Given the description of an element on the screen output the (x, y) to click on. 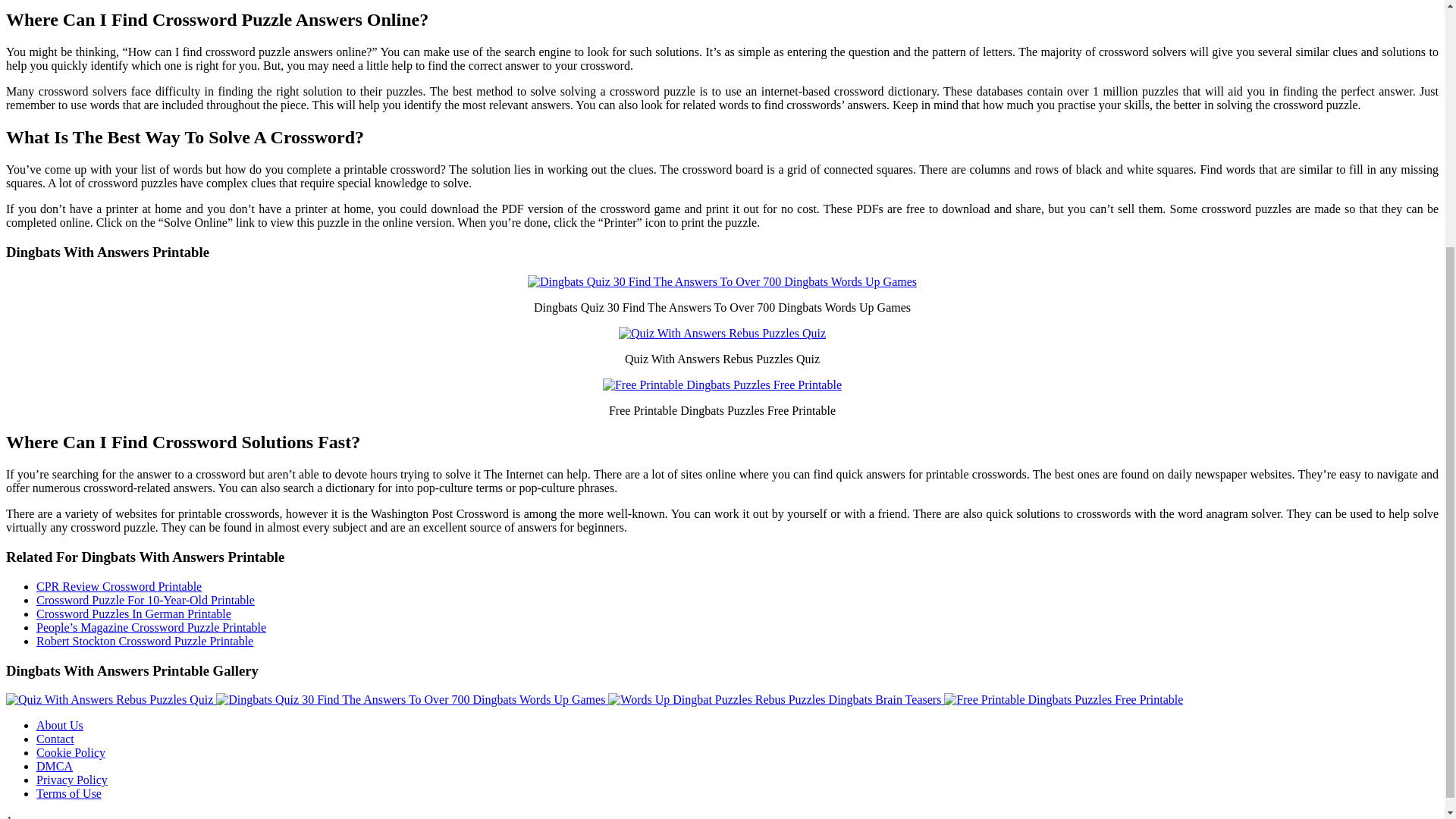
Contact (55, 738)
Robert Stockton Crossword Puzzle Printable (144, 640)
quiz with answers rebus puzzles quiz (721, 333)
Terms of Use (68, 793)
Quiz With Answers Rebus Puzzles Quiz (110, 698)
Crossword Puzzles In German Printable (133, 613)
About Us (59, 725)
Cookie Policy (70, 752)
